Given the description of an element on the screen output the (x, y) to click on. 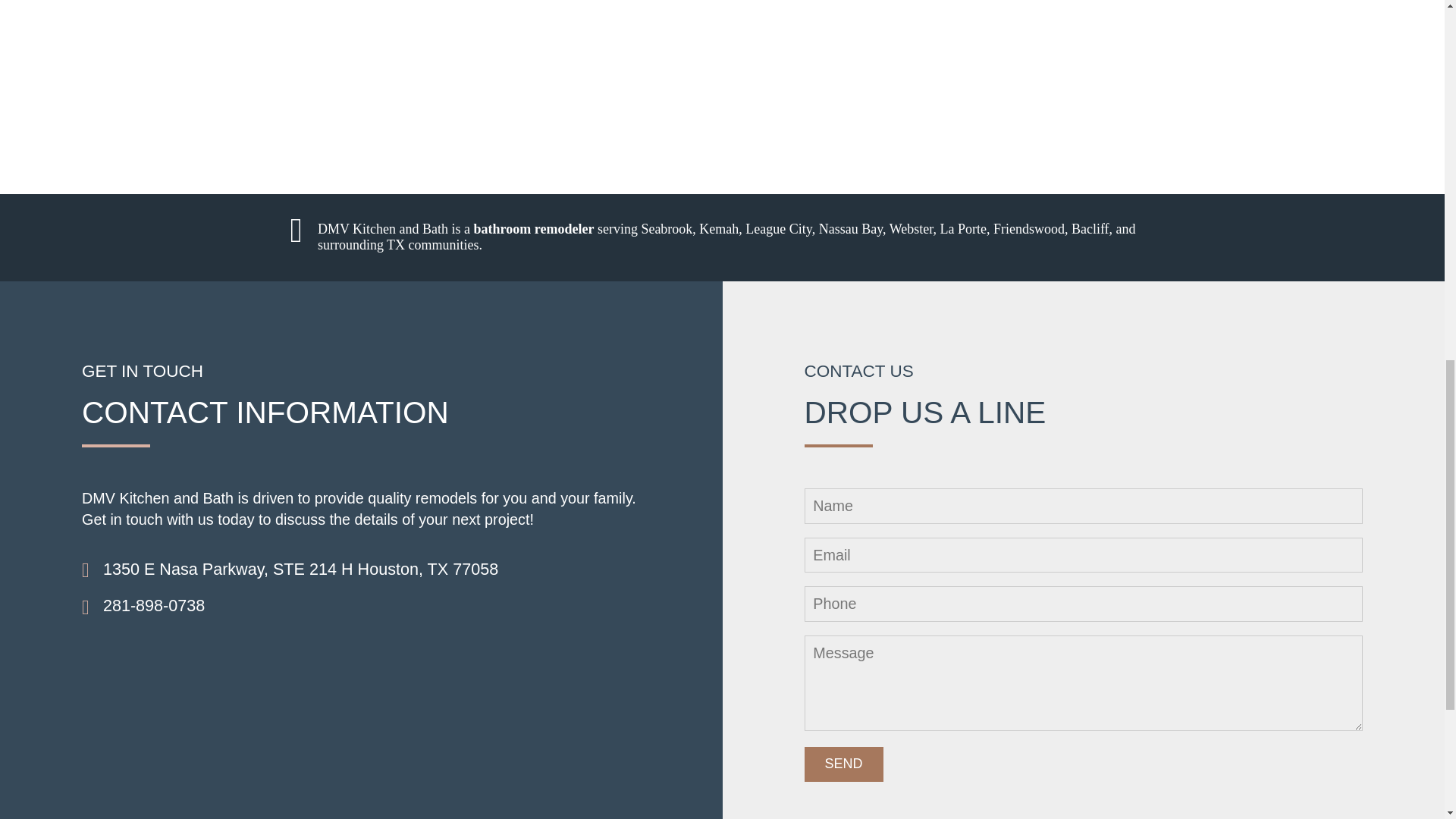
bathroom remodeler (534, 228)
1350 E Nasa Parkway, STE 214 H Houston, TX 77058 (300, 569)
281-898-0738 (154, 606)
Send (842, 764)
Send (842, 764)
